Given the description of an element on the screen output the (x, y) to click on. 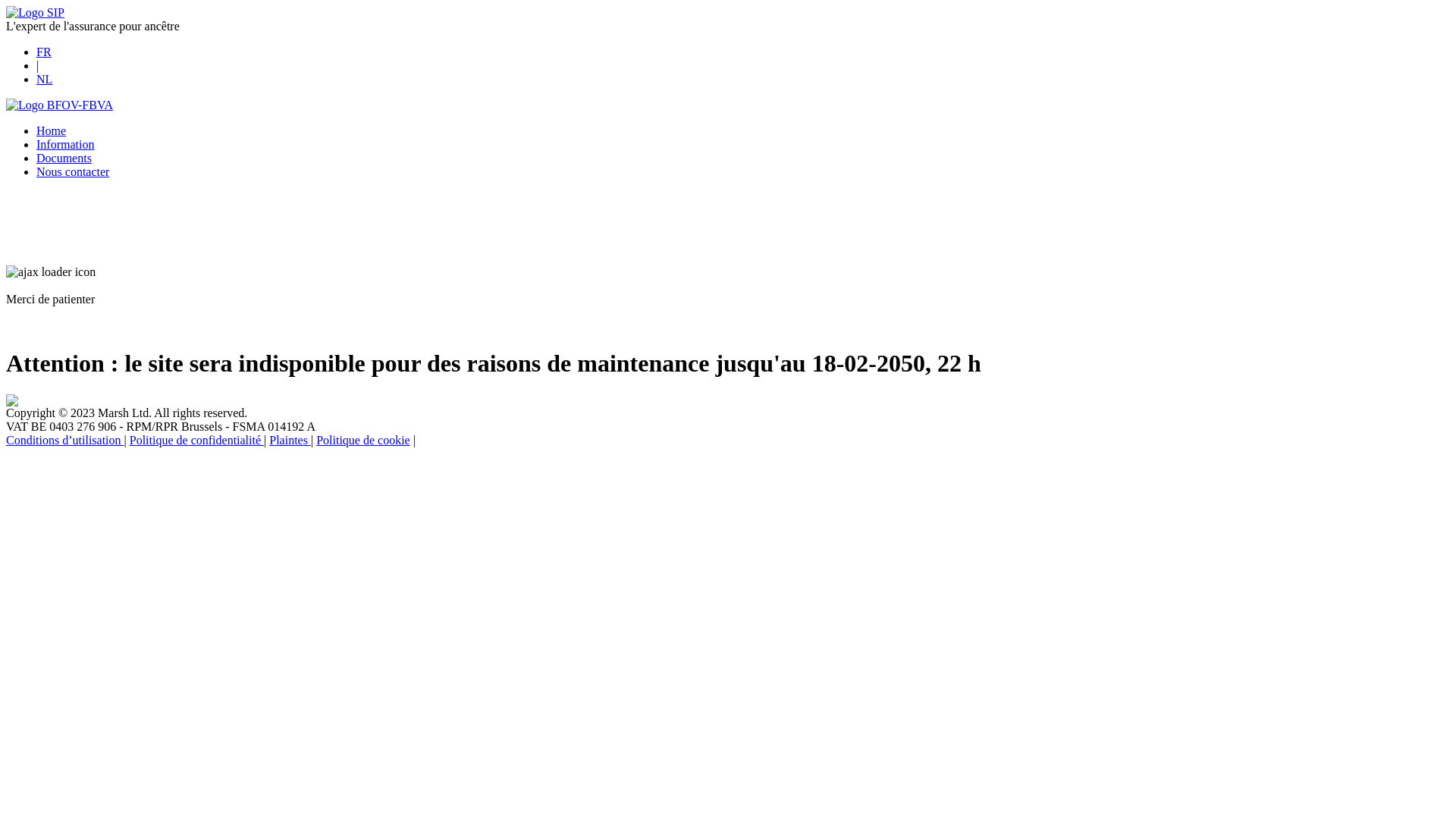
NL Element type: text (44, 78)
FR Element type: text (43, 51)
Politique de cookie Element type: text (363, 439)
Documents Element type: text (63, 157)
Plaintes Element type: text (289, 439)
Nous contacter Element type: text (72, 171)
Information Element type: text (65, 144)
Home Element type: text (50, 130)
